Given the description of an element on the screen output the (x, y) to click on. 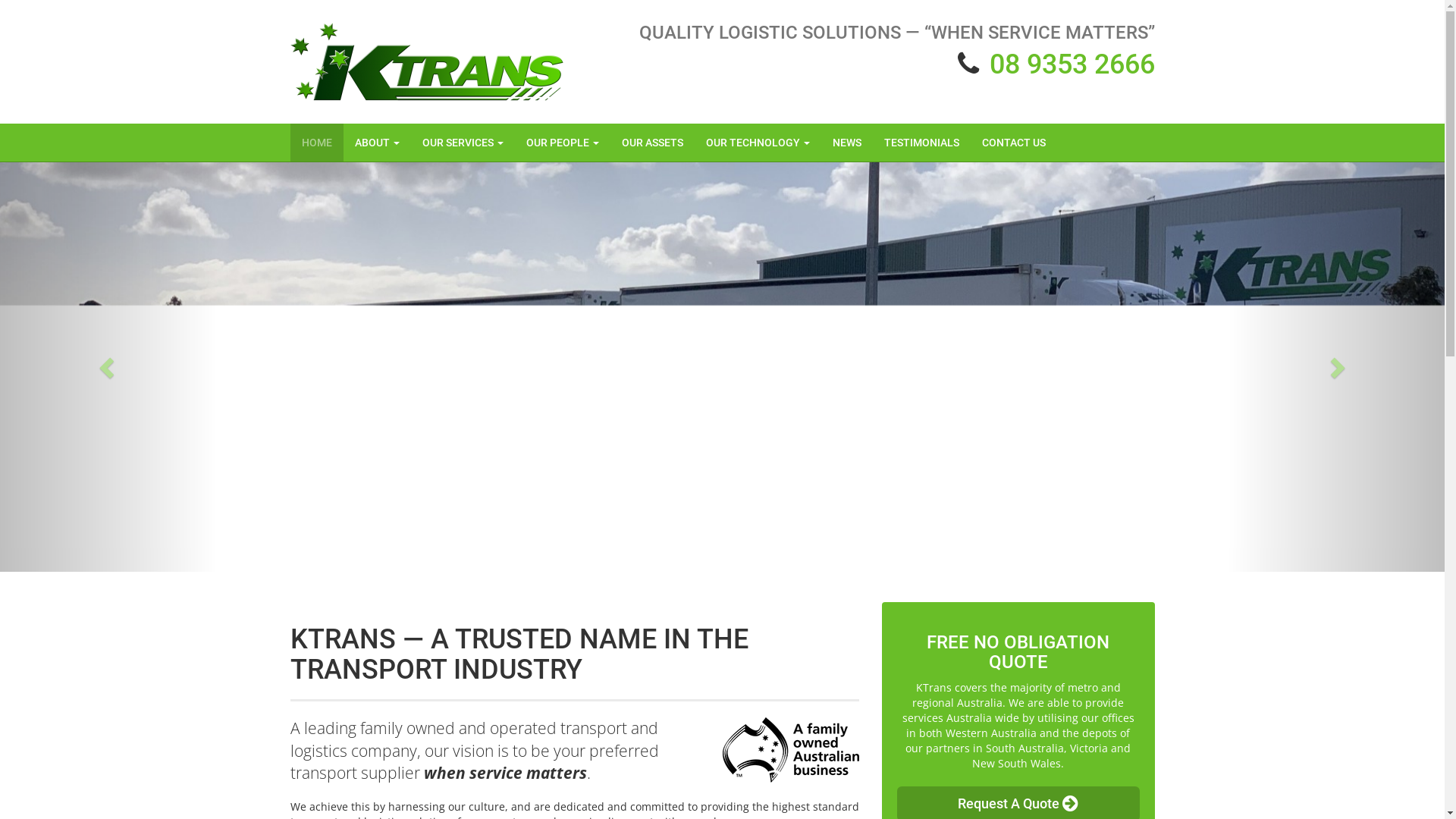
CONTACT US Element type: text (1013, 142)
TESTIMONIALS Element type: text (920, 142)
Next Element type: text (1335, 366)
OUR ASSETS Element type: text (651, 142)
08 9353 2666 Element type: text (1071, 64)
NEWS Element type: text (846, 142)
HOME Element type: text (315, 142)
OUR SERVICES Element type: text (462, 142)
OUR TECHNOLOGY Element type: text (757, 142)
OUR PEOPLE Element type: text (561, 142)
KTrans Logo Element type: hover (425, 61)
ABOUT Element type: text (376, 142)
Previous Element type: text (108, 366)
